Given the description of an element on the screen output the (x, y) to click on. 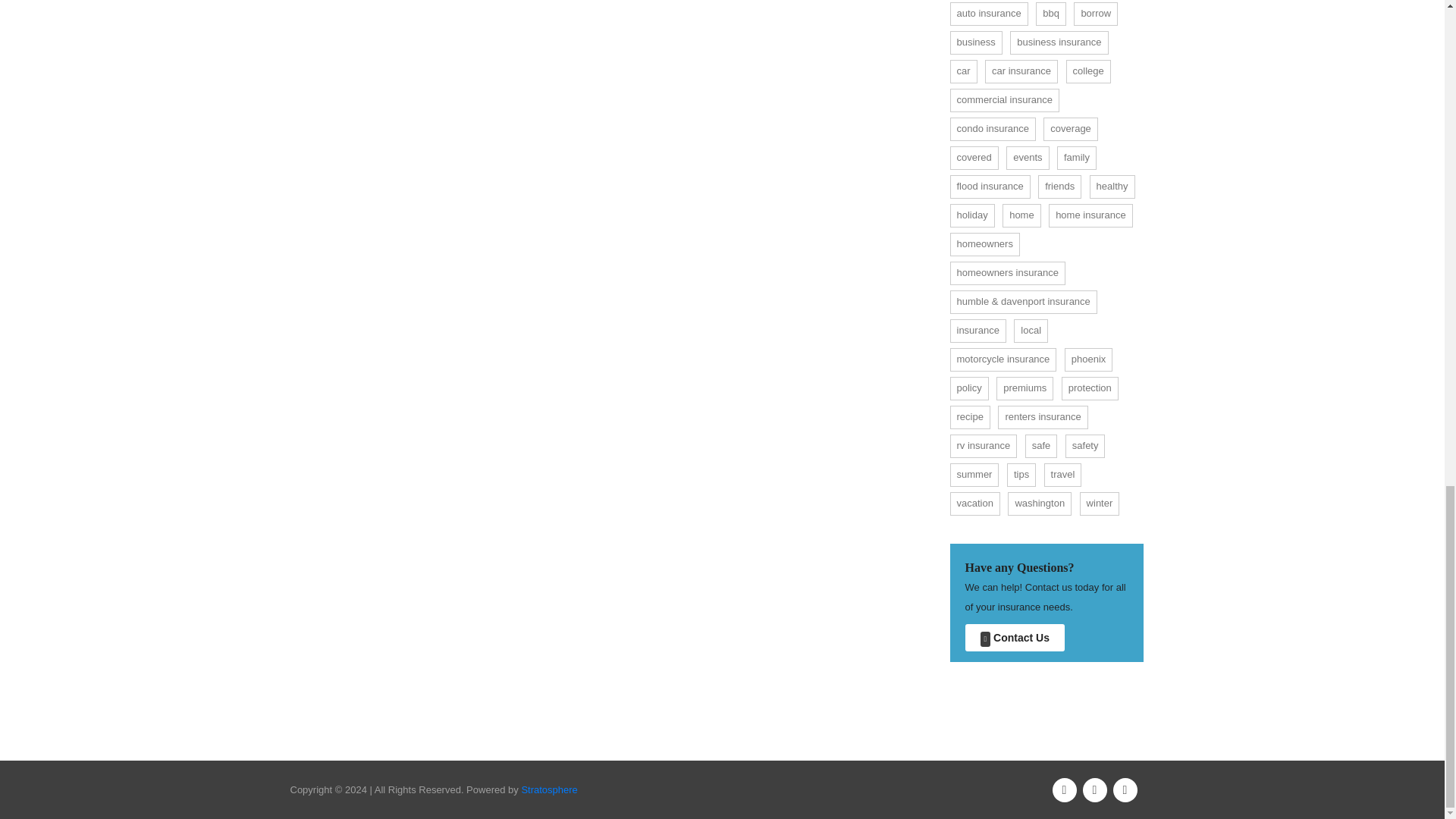
condo insurance (992, 128)
college (1087, 71)
borrow (1096, 13)
bbq (1050, 13)
car (962, 71)
events (1027, 157)
car insurance (1021, 71)
auto insurance (988, 13)
business (975, 42)
commercial insurance (1003, 100)
business insurance (1059, 42)
coverage (1070, 128)
covered (973, 157)
